Given the description of an element on the screen output the (x, y) to click on. 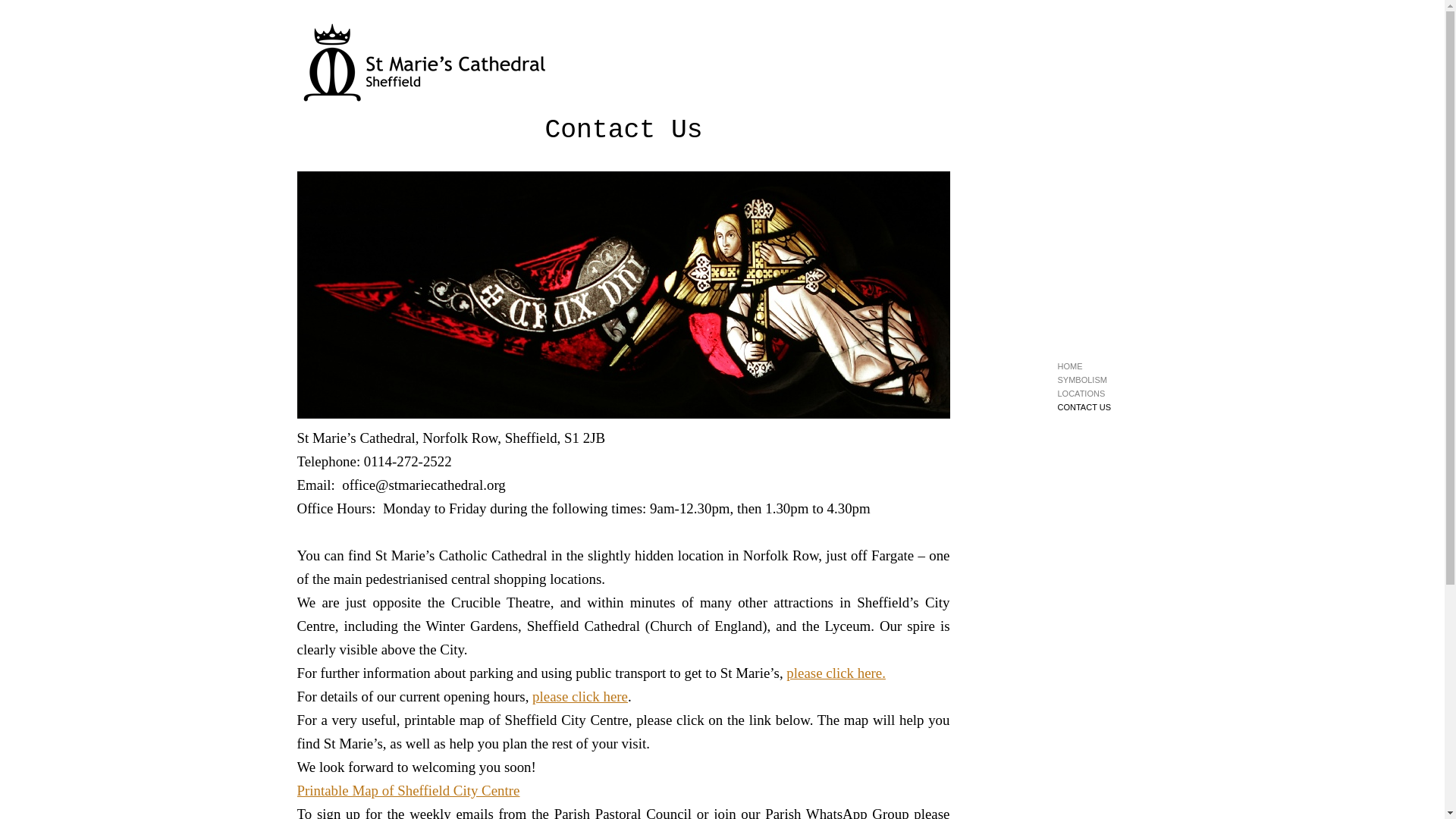
LOCATIONS (1085, 394)
Printable Map of Sheffield City Centre (408, 790)
please click here (579, 696)
please click here. (835, 672)
HOME (1085, 366)
SYMBOLISM (1085, 380)
CONTACT US (1085, 407)
